Given the description of an element on the screen output the (x, y) to click on. 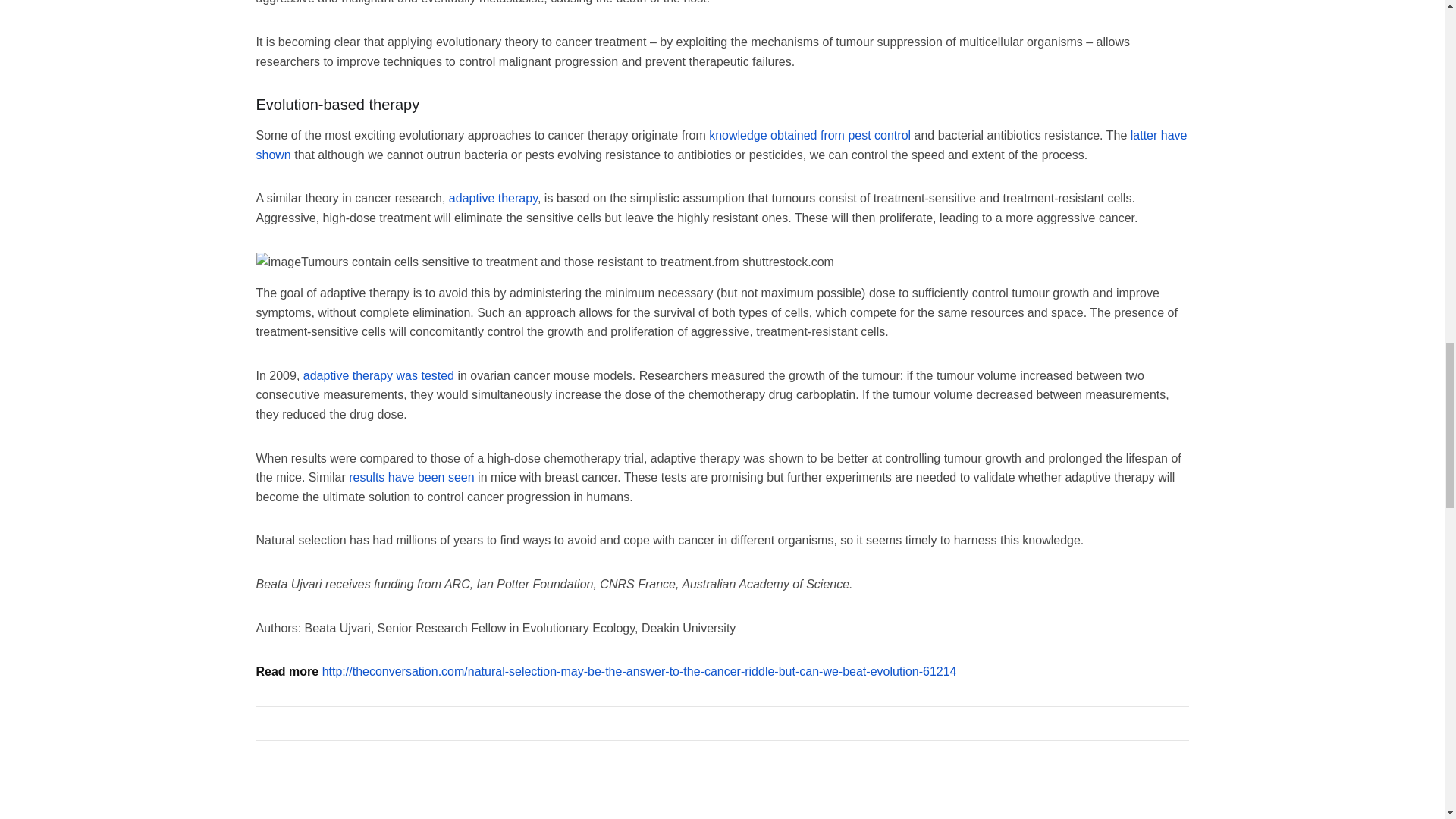
Natural selection may be the answer to the cancer (638, 671)
